Given the description of an element on the screen output the (x, y) to click on. 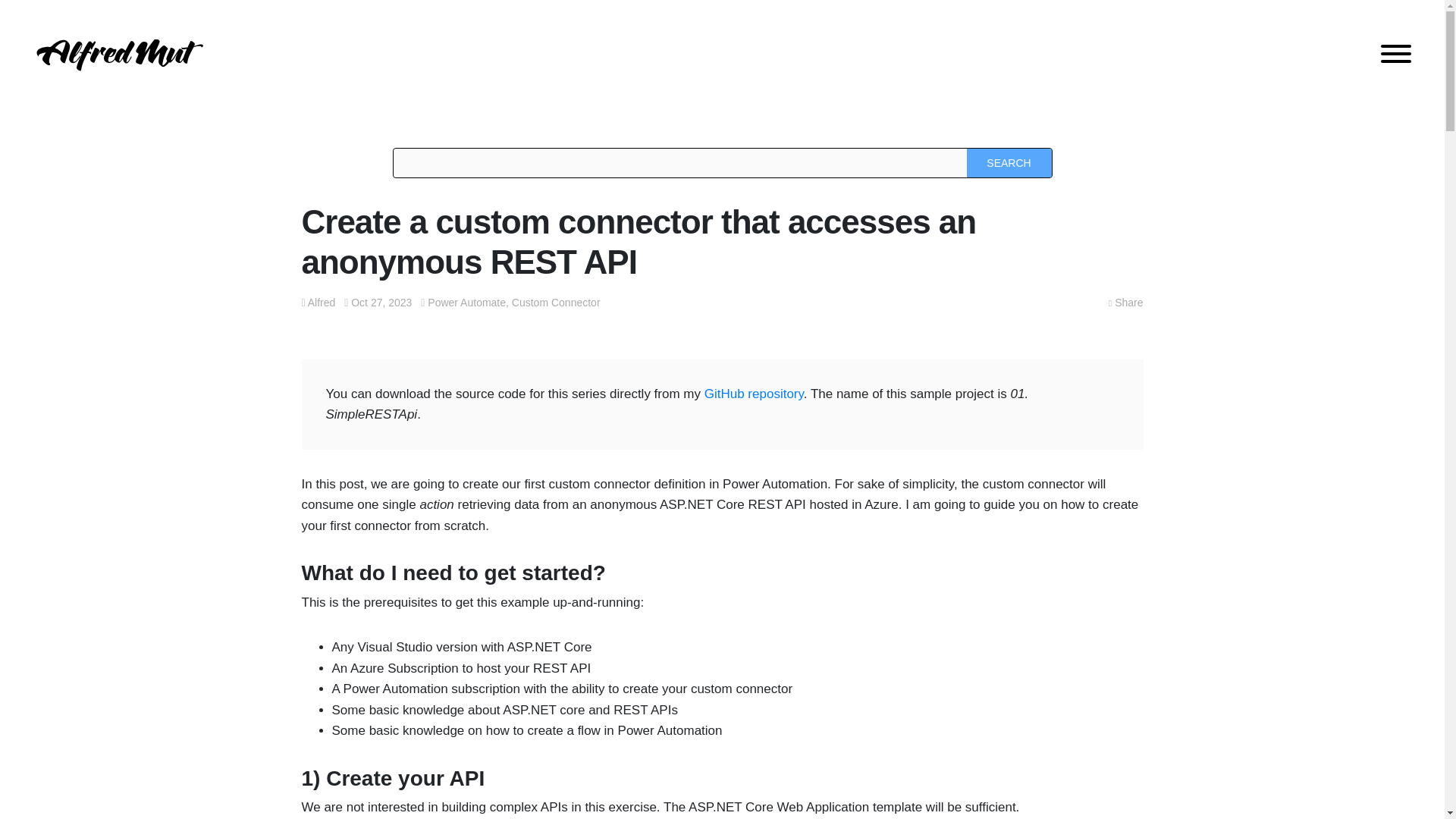
Power Automate (466, 302)
GitHub repository (753, 393)
Alfred (321, 302)
Share (1125, 302)
Custom Connector (555, 302)
Search (1008, 162)
